Given the description of an element on the screen output the (x, y) to click on. 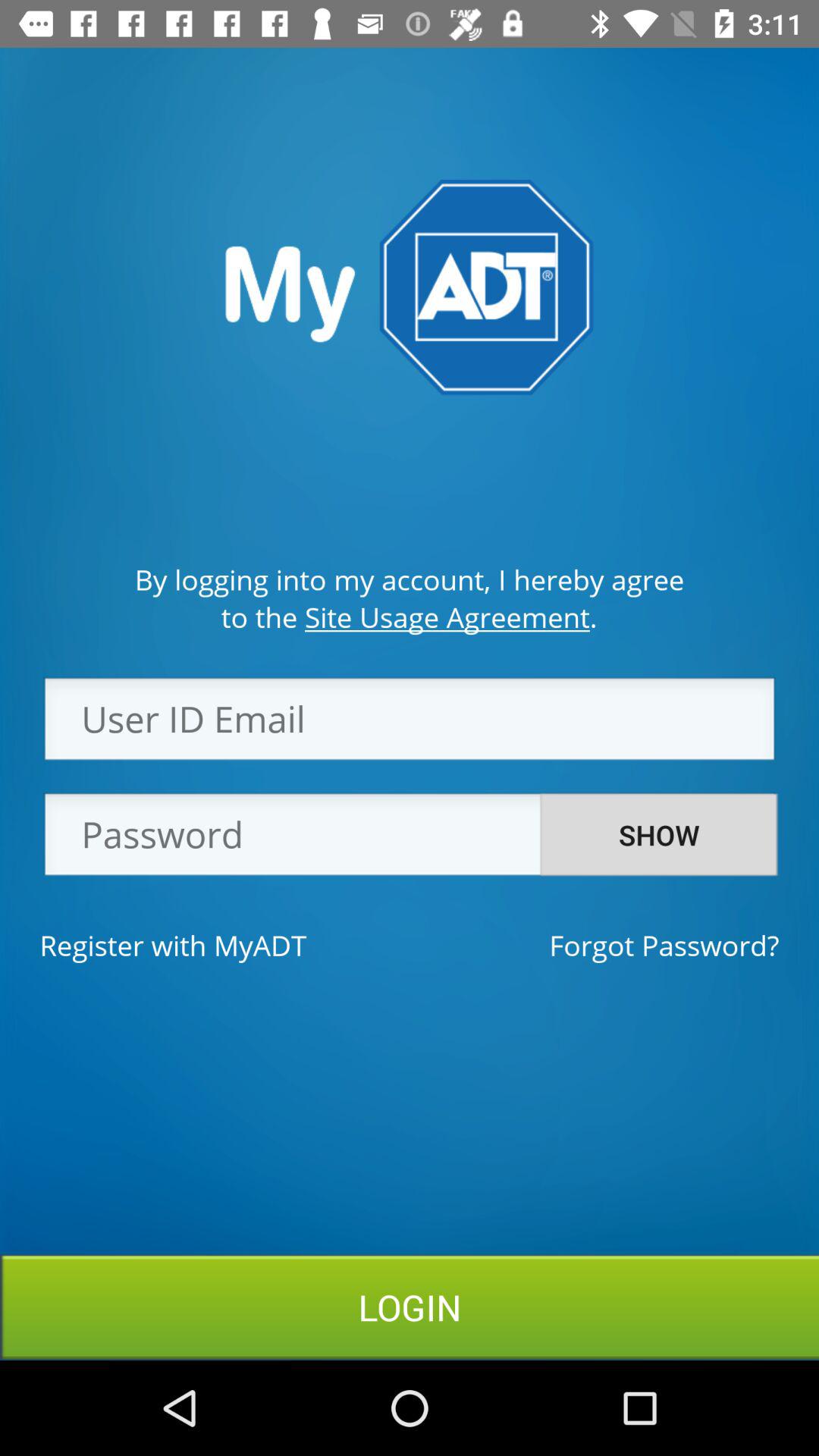
select the item below the register with myadt item (409, 1307)
